Given the description of an element on the screen output the (x, y) to click on. 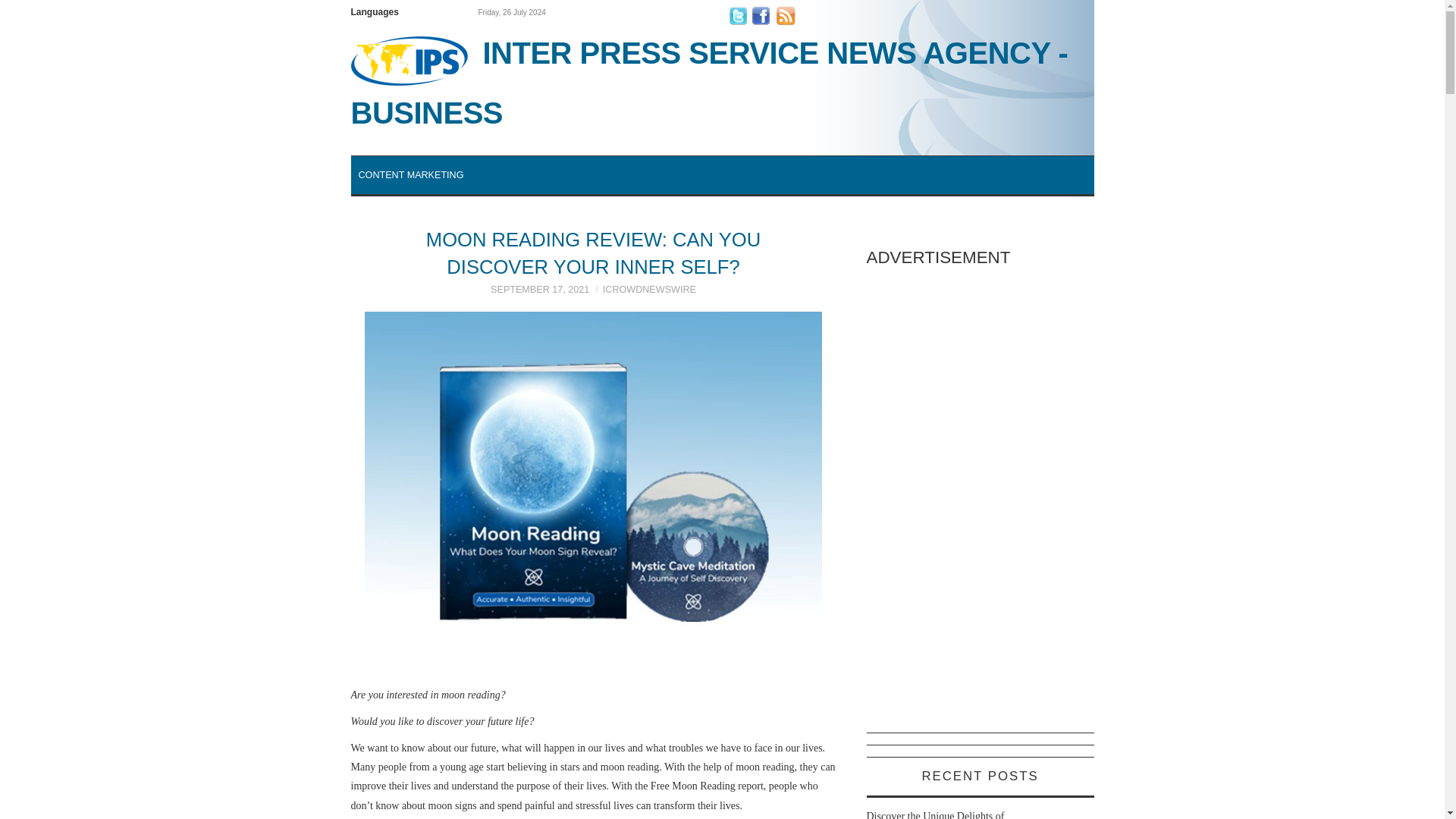
ICROWDNEWSWIRE (648, 289)
INTER PRESS SERVICE NEWS AGENCY - BUSINESS (721, 82)
Business (721, 82)
SEPTEMBER 17, 2021 (539, 289)
CONTENT MARKETING (410, 175)
